Given the description of an element on the screen output the (x, y) to click on. 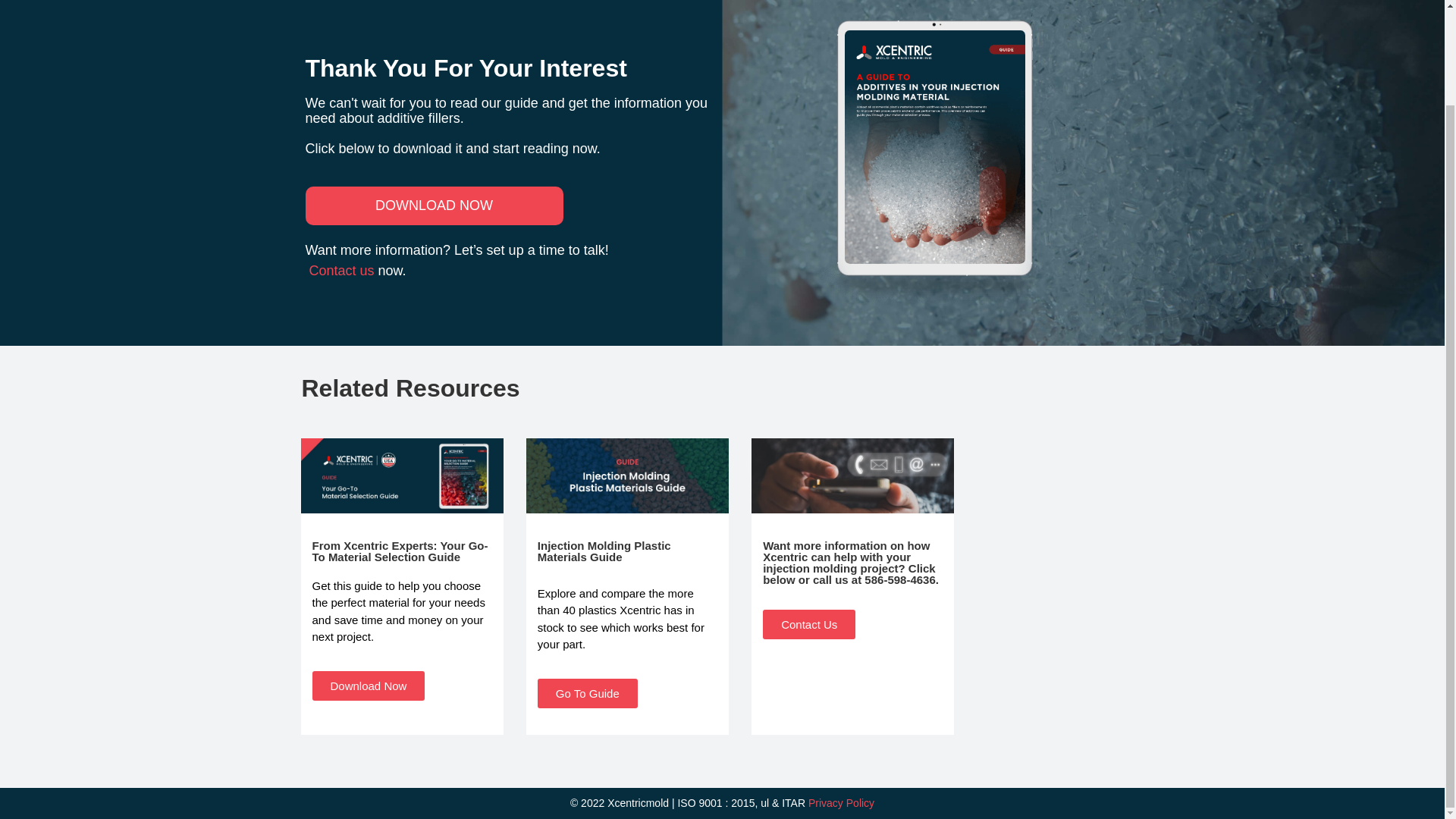
DOWNLOAD NOW (433, 205)
Download Now (369, 685)
DOWNLOAD NOW (433, 205)
Contact Us (809, 624)
Privacy Policy (841, 802)
Contact us (343, 270)
Go To Guide (587, 693)
